Given the description of an element on the screen output the (x, y) to click on. 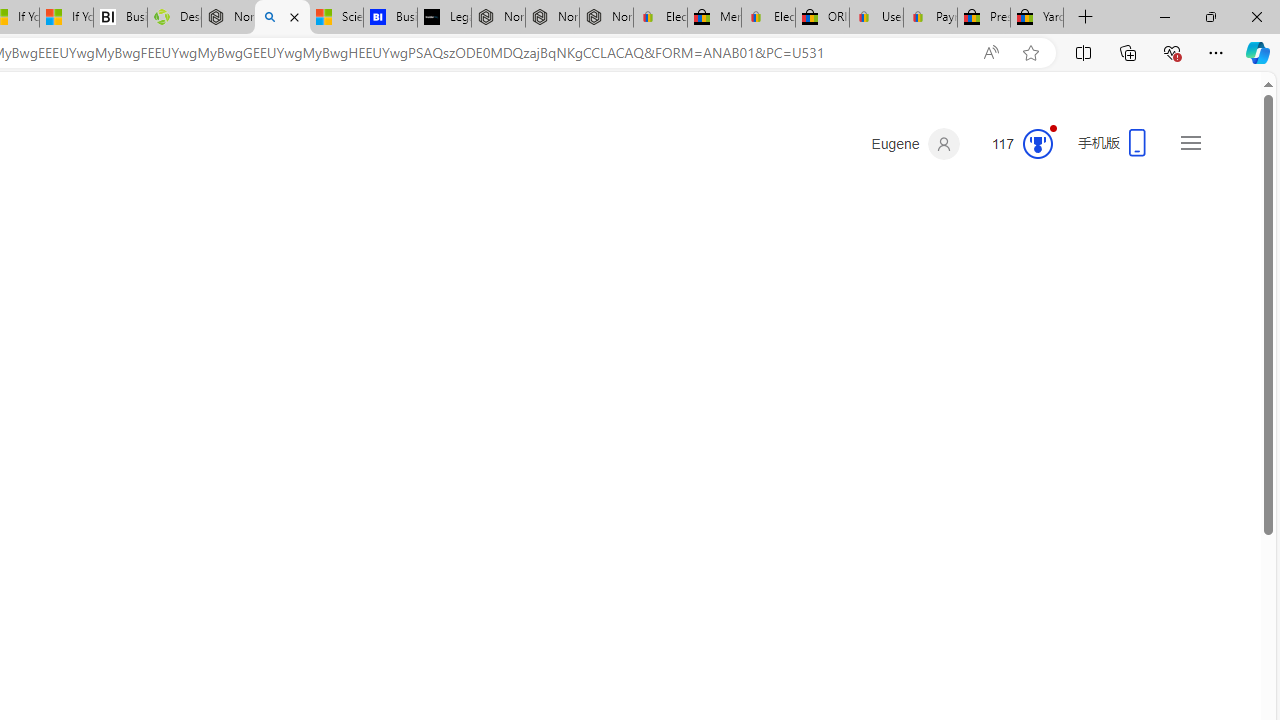
Settings and quick links (1190, 142)
Press Room - eBay Inc. (983, 17)
Descarga Driver Updater (174, 17)
Class: outer-circle-animation (1037, 143)
